Given the description of an element on the screen output the (x, y) to click on. 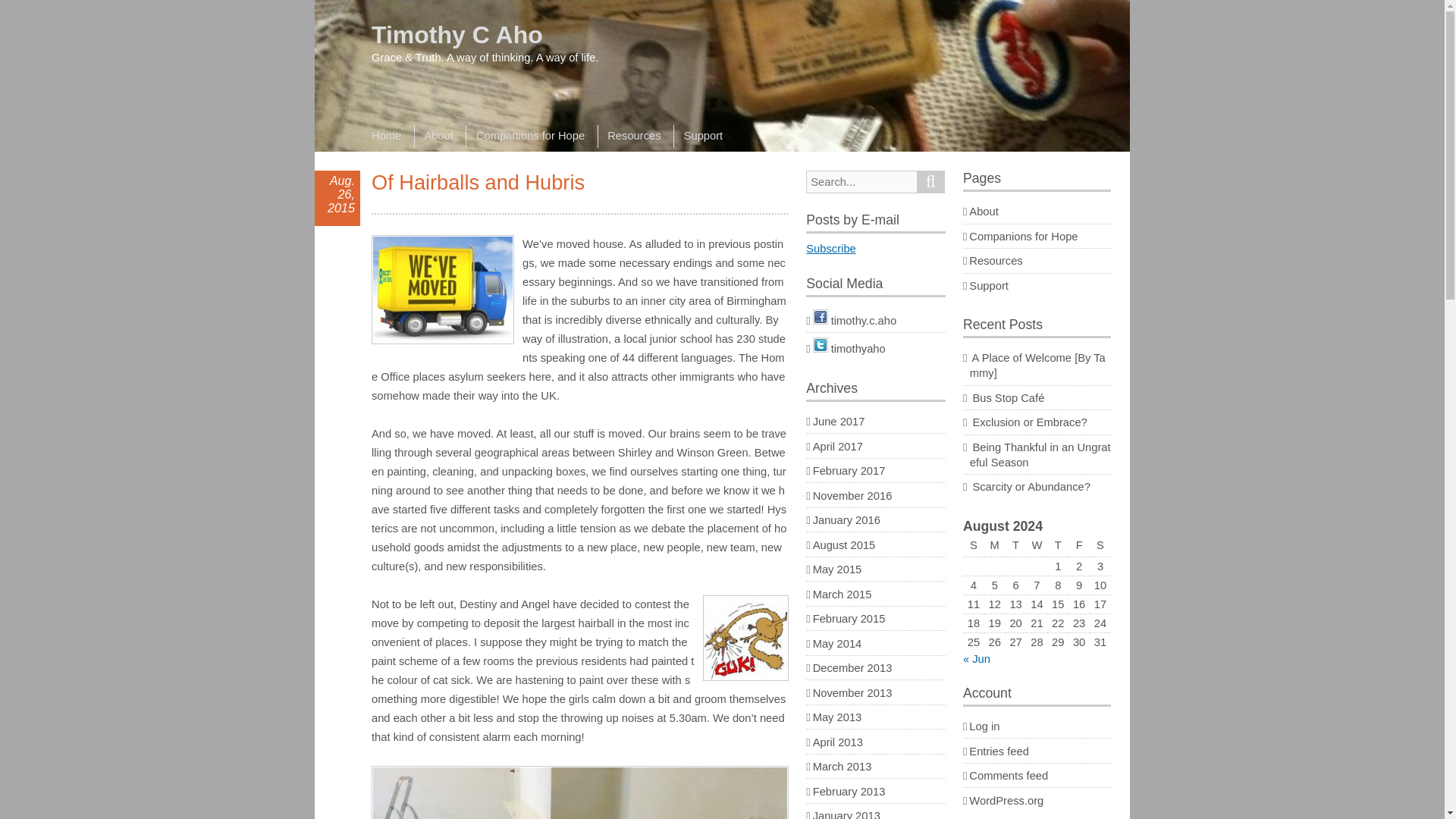
November 2016 (852, 495)
June 2017 (838, 421)
Thursday (1057, 545)
Saturday (1099, 545)
Resources (632, 136)
April 2017 (837, 445)
Search (930, 181)
Wednesday (1037, 545)
May 2015 (836, 569)
About (438, 136)
